Given the description of an element on the screen output the (x, y) to click on. 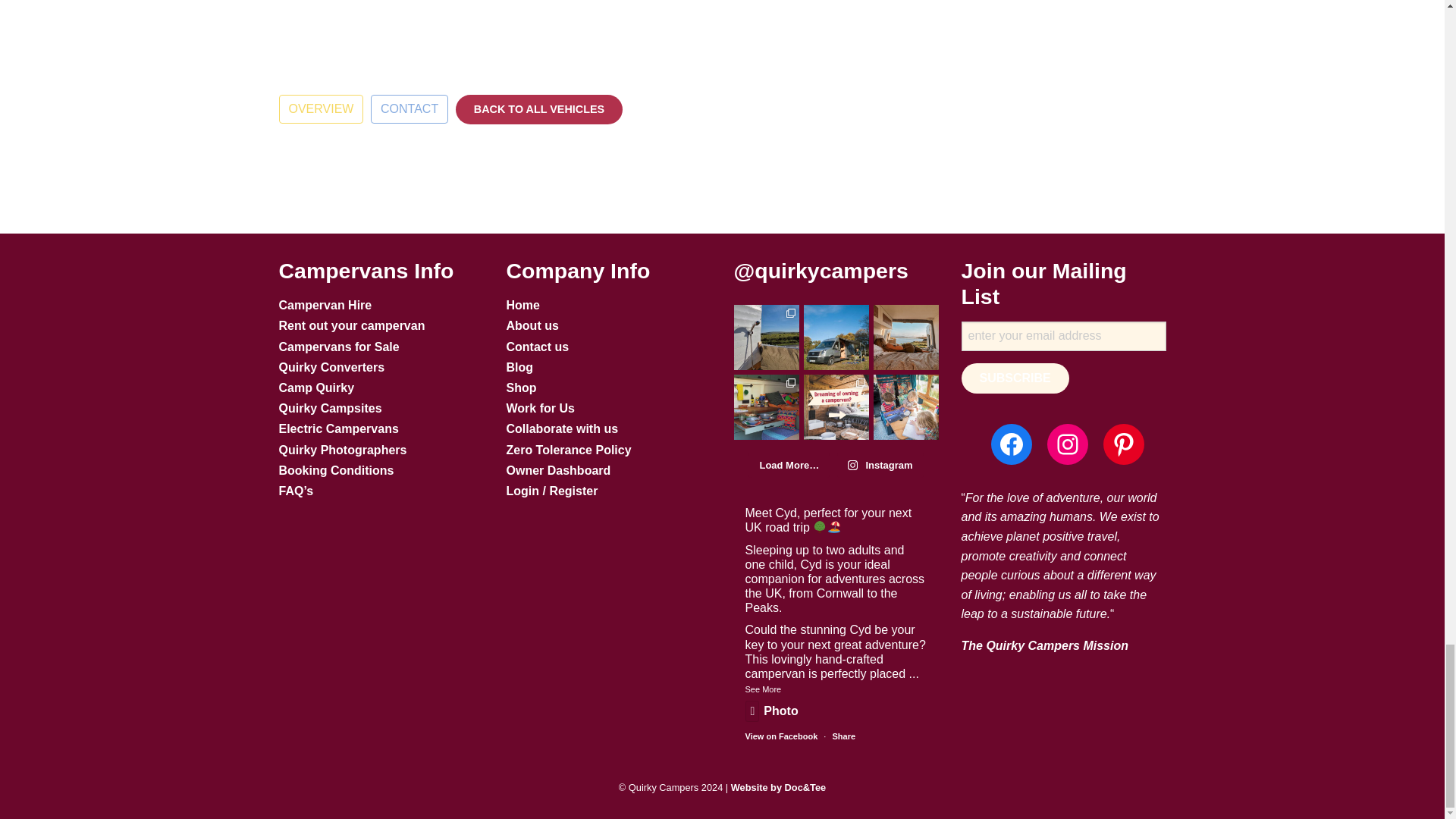
Subscribe (1014, 378)
View on Facebook (780, 736)
Share (843, 736)
